Given the description of an element on the screen output the (x, y) to click on. 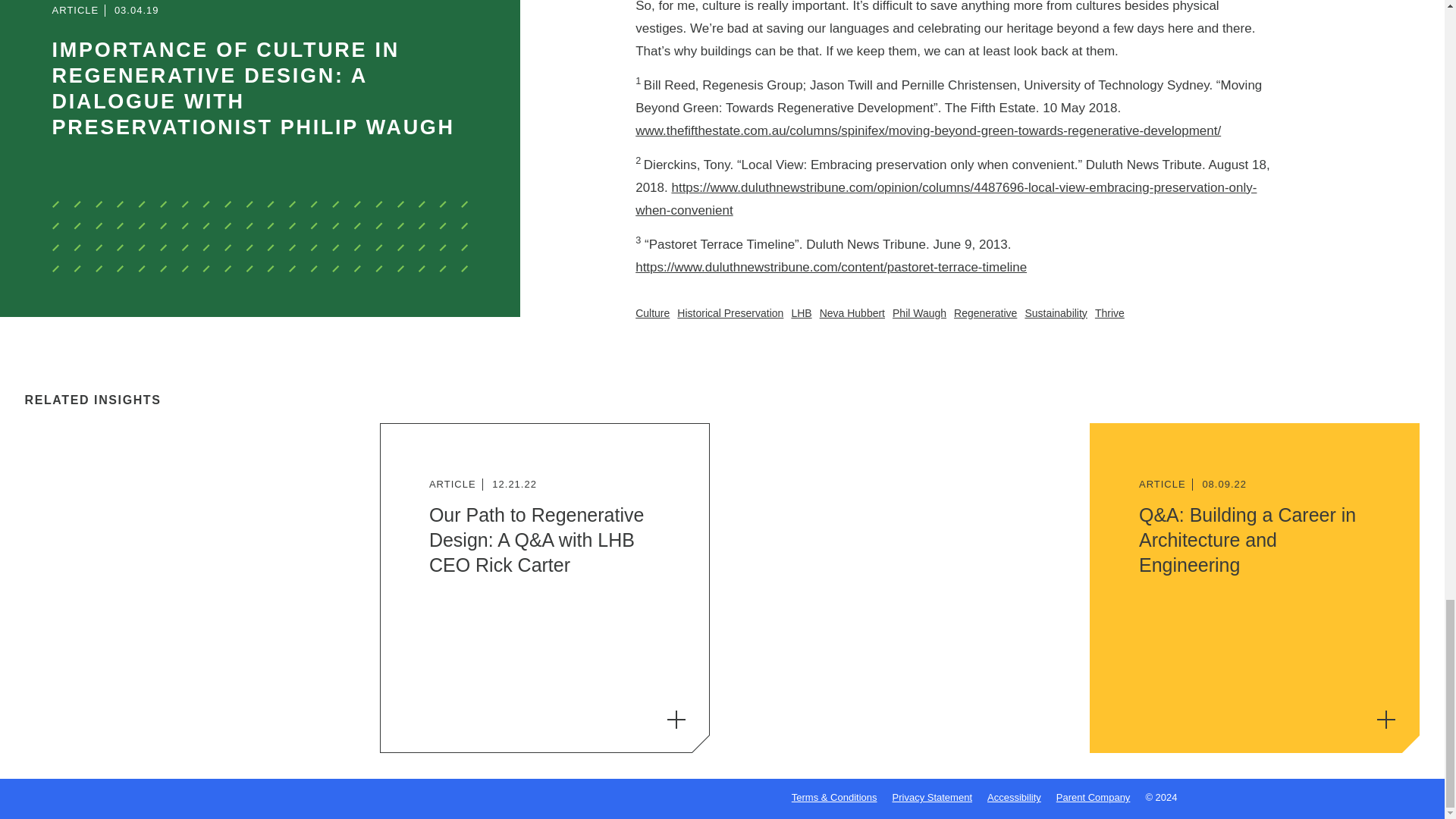
Privacy Statement (932, 797)
Phil Waugh (919, 312)
LHB (800, 312)
Accessibility (1014, 797)
Regenerative (984, 312)
Thrive (1109, 312)
Culture (651, 312)
Neva Hubbert (852, 312)
Historical Preservation (730, 312)
Sustainability (1056, 312)
